Given the description of an element on the screen output the (x, y) to click on. 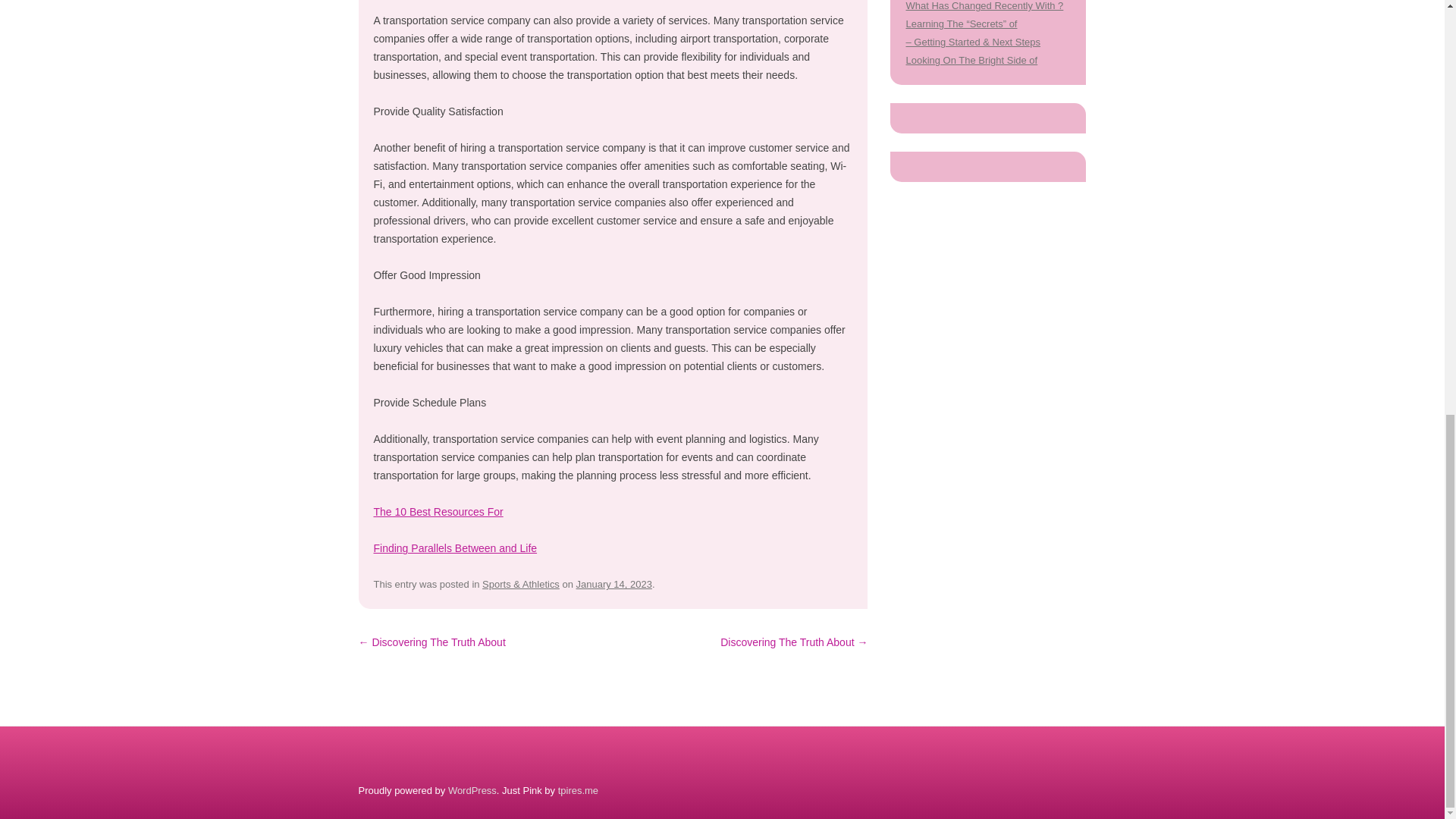
Finding Parallels Between and Life (454, 548)
What Has Changed Recently With ? (983, 5)
January 14, 2023 (614, 583)
Semantic Personal Publishing Platform (472, 790)
The 10 Best Resources For (437, 511)
8:00 pm (614, 583)
